Given the description of an element on the screen output the (x, y) to click on. 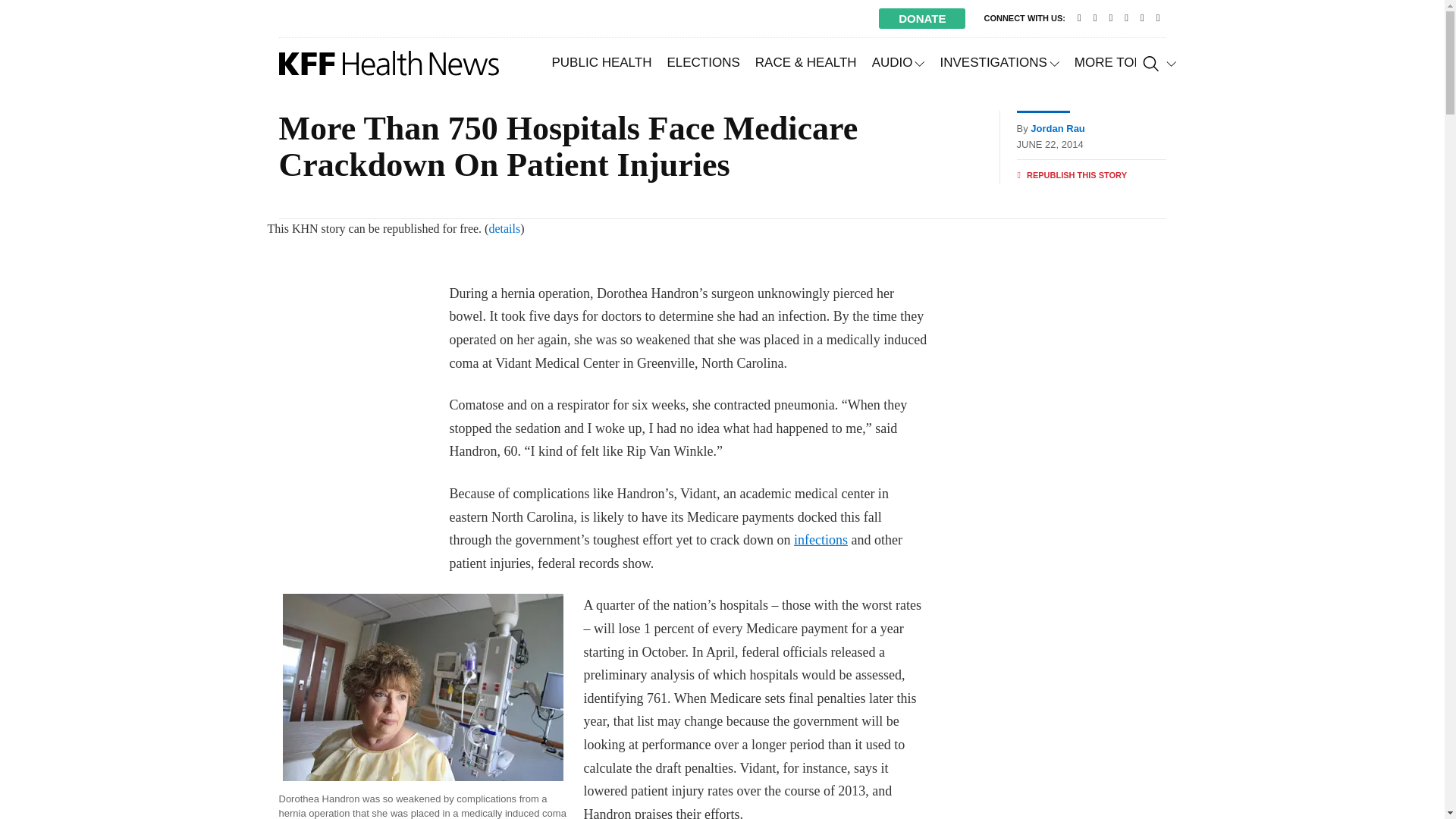
DONATE (922, 18)
PUBLIC HEALTH (601, 61)
AUDIO (898, 61)
MORE TOPICS (1125, 61)
ELECTIONS (702, 61)
KFF Health News (389, 63)
INVESTIGATIONS (998, 61)
Click to share (1071, 175)
